Given the description of an element on the screen output the (x, y) to click on. 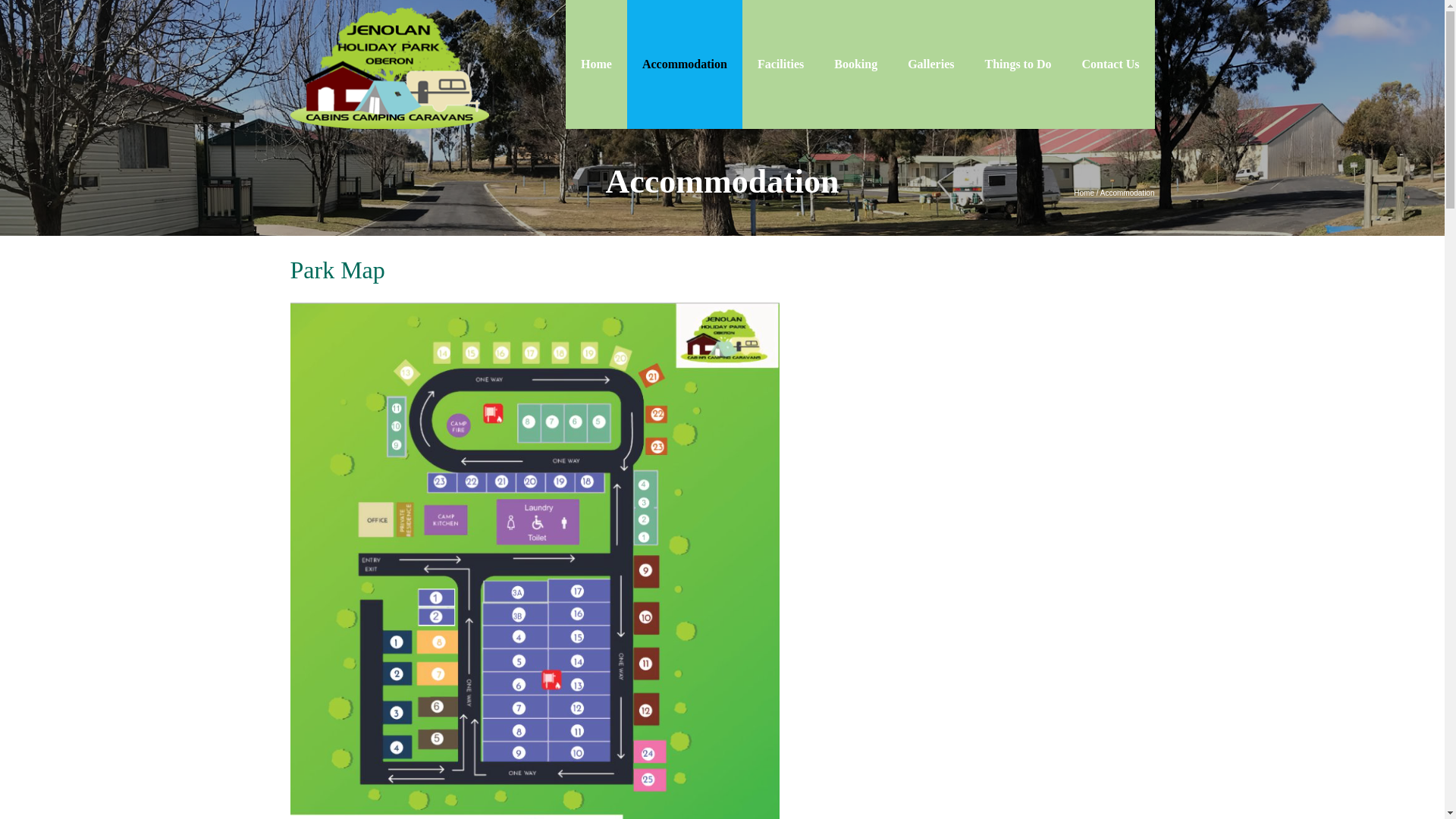
Contact Us Element type: text (1110, 64)
Home Element type: text (1083, 192)
Home Element type: text (596, 64)
Galleries Element type: text (930, 64)
Booking Element type: text (855, 64)
Things to Do Element type: text (1017, 64)
Accommodation Element type: text (684, 64)
Facilities Element type: text (780, 64)
